Given the description of an element on the screen output the (x, y) to click on. 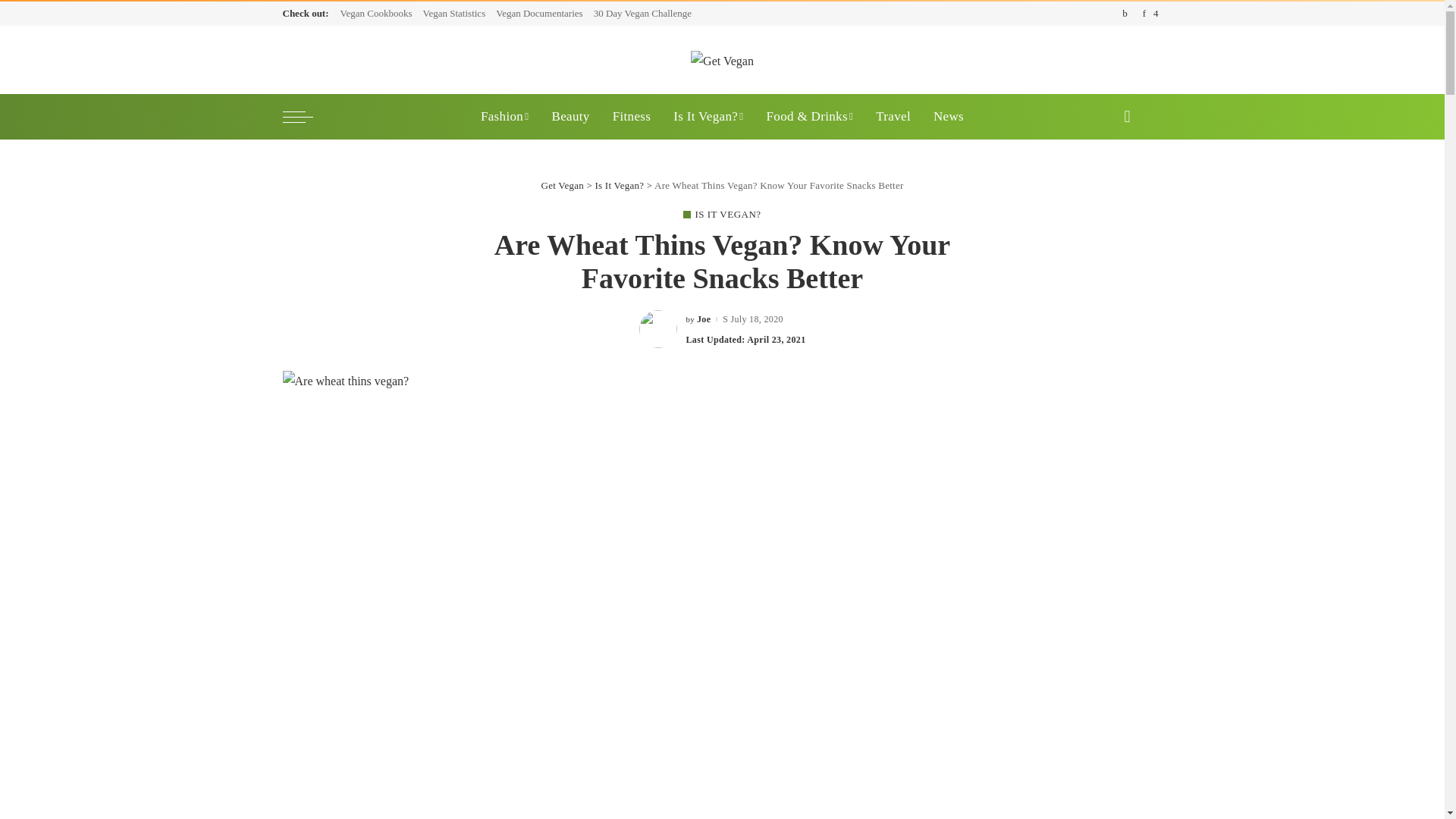
Vegan Cookbooks (378, 13)
Get Vegan (722, 58)
30 Day Vegan Challenge (642, 13)
Is It Vegan? (708, 116)
Fashion (504, 116)
Vegan Statistics (453, 13)
Vegan Documentaries (539, 13)
Travel (892, 116)
Fitness (631, 116)
Beauty (569, 116)
